Given the description of an element on the screen output the (x, y) to click on. 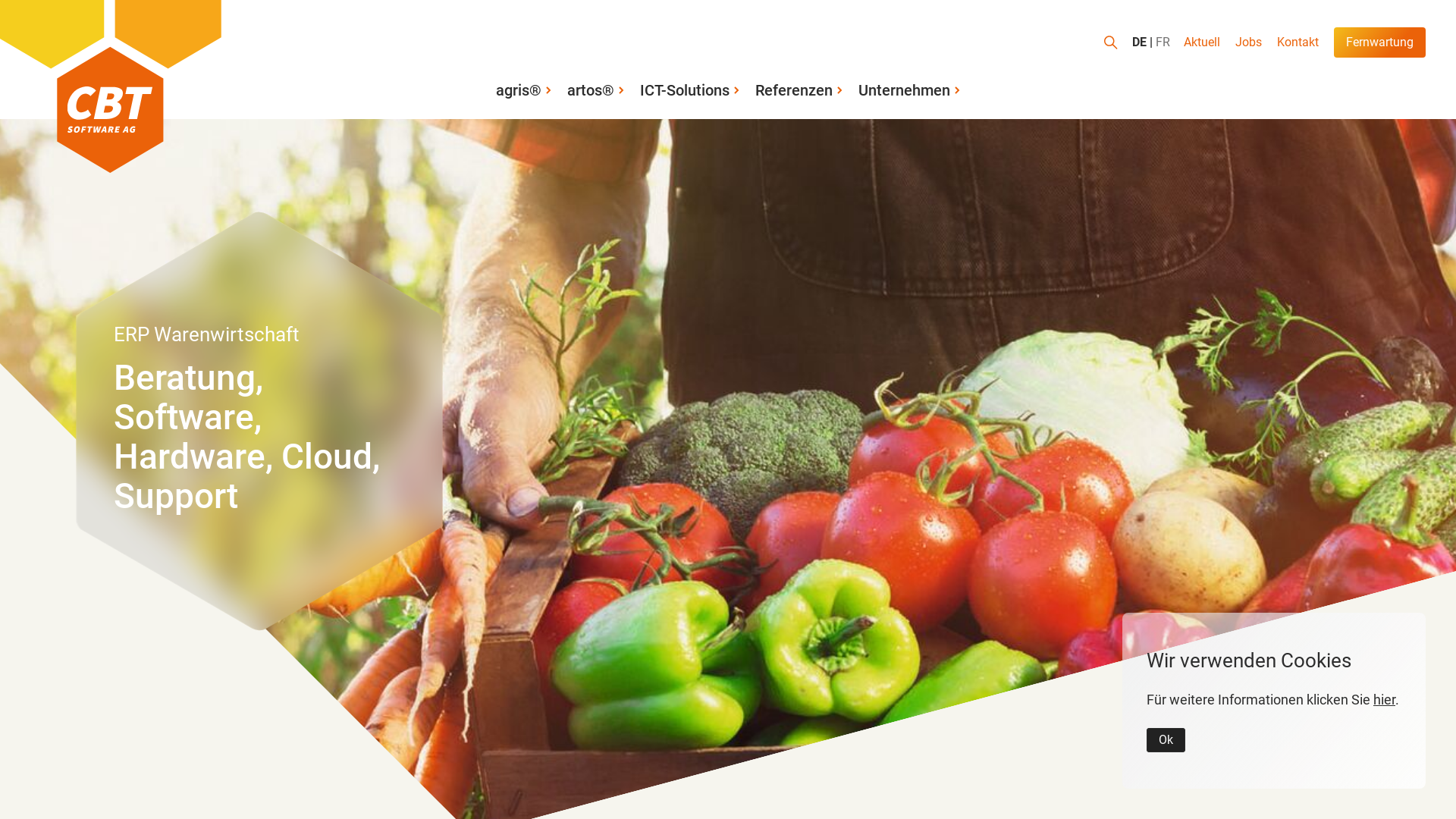
ICT-Solutions Element type: text (689, 90)
Fernwartung Element type: text (1379, 42)
Kontakt Element type: text (1297, 42)
Aktuell Element type: text (1201, 42)
hier Element type: text (1384, 699)
FR Element type: text (1162, 42)
Referenzen Element type: text (798, 90)
Unternehmen Element type: text (909, 90)
Ok Element type: text (1165, 740)
DE Element type: text (1142, 42)
Jobs Element type: text (1248, 42)
